Given the description of an element on the screen output the (x, y) to click on. 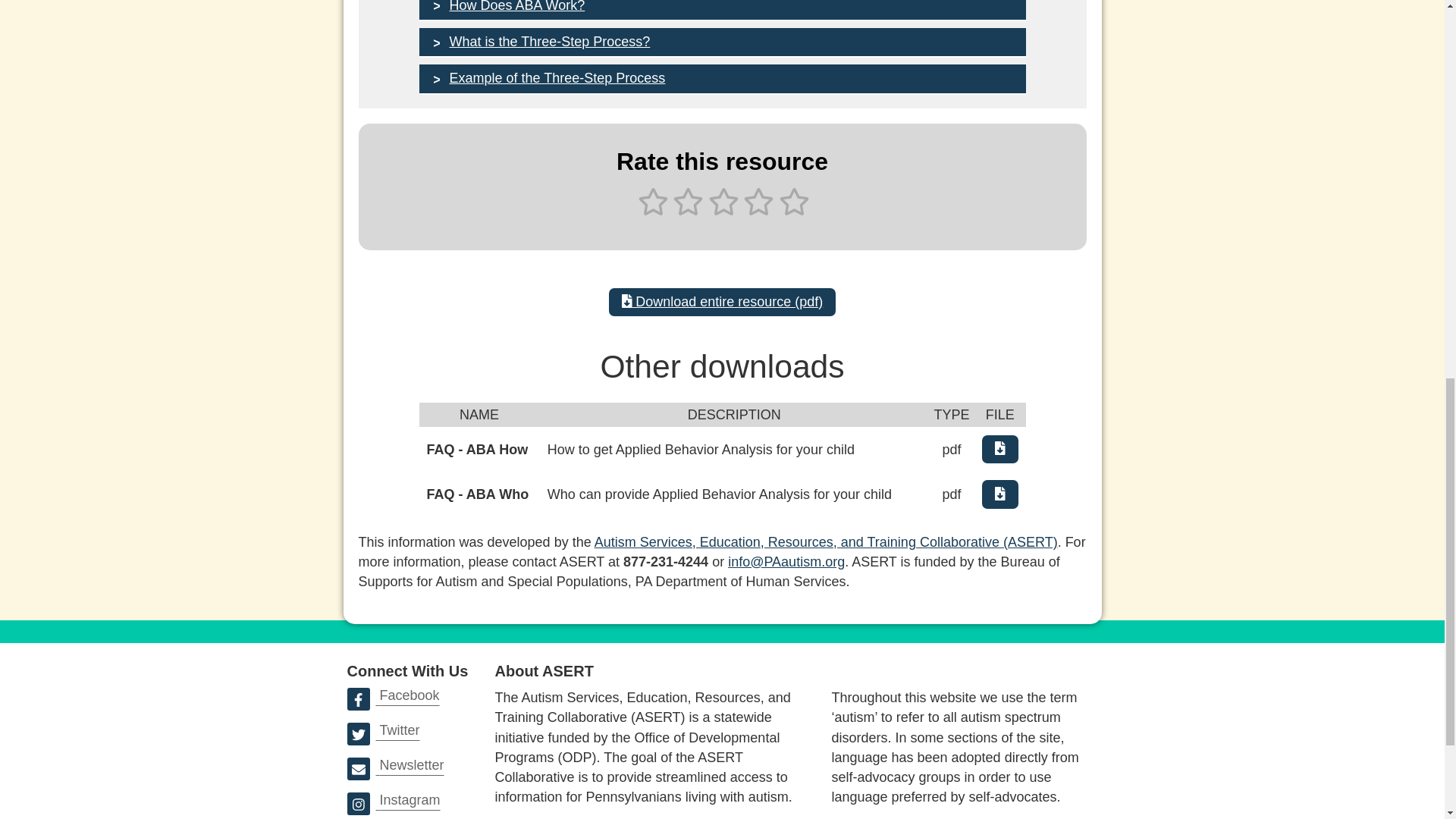
Rate this resource 2 stars (688, 210)
Rate this resource 4 stars (758, 210)
Rate this resource 5 stars (792, 210)
Rate this resource 1 star (653, 210)
How Does ABA Work? (722, 10)
Rate this resource 3 stars (723, 210)
